Given the description of an element on the screen output the (x, y) to click on. 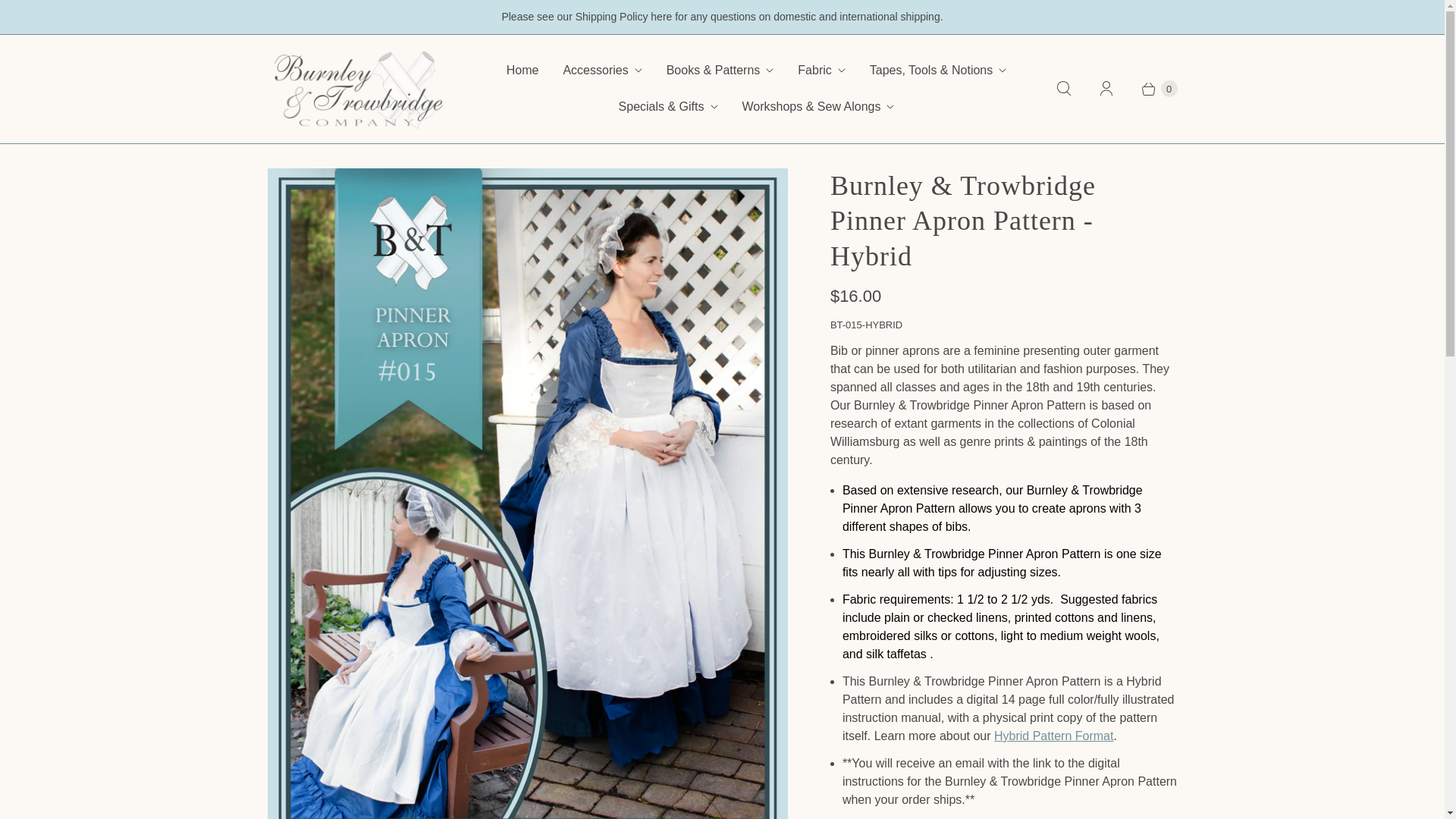
Home (523, 70)
